Given the description of an element on the screen output the (x, y) to click on. 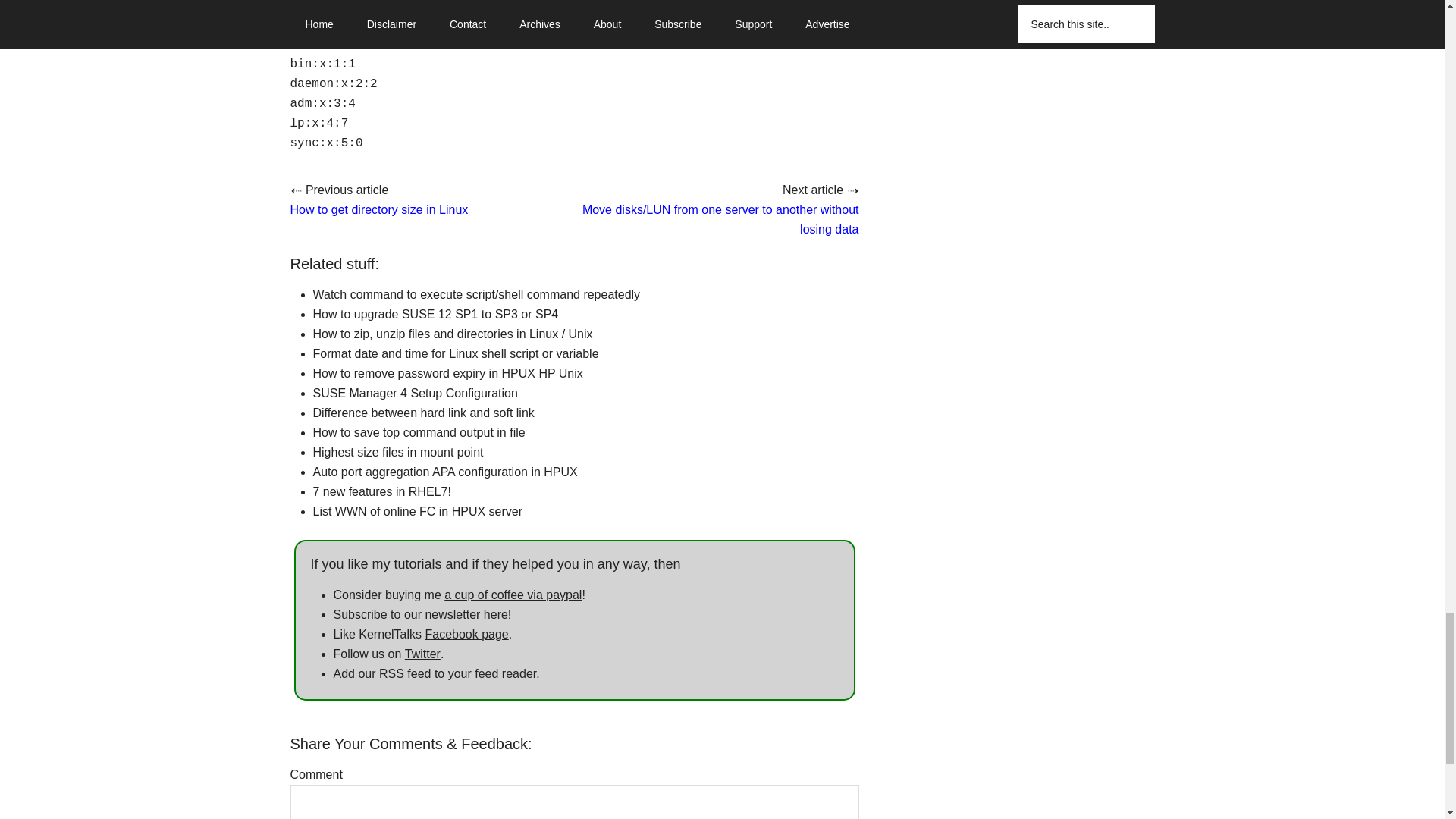
Link to Difference between hard link and soft link (423, 412)
Link to How to upgrade SUSE 12 SP1 to SP3 or SP4 (435, 314)
Link to SUSE Manager 4 Setup Configuration (414, 392)
Link to How to remove password expiry in HPUX HP Unix (447, 373)
How to get directory size in Linux (378, 209)
